Given the description of an element on the screen output the (x, y) to click on. 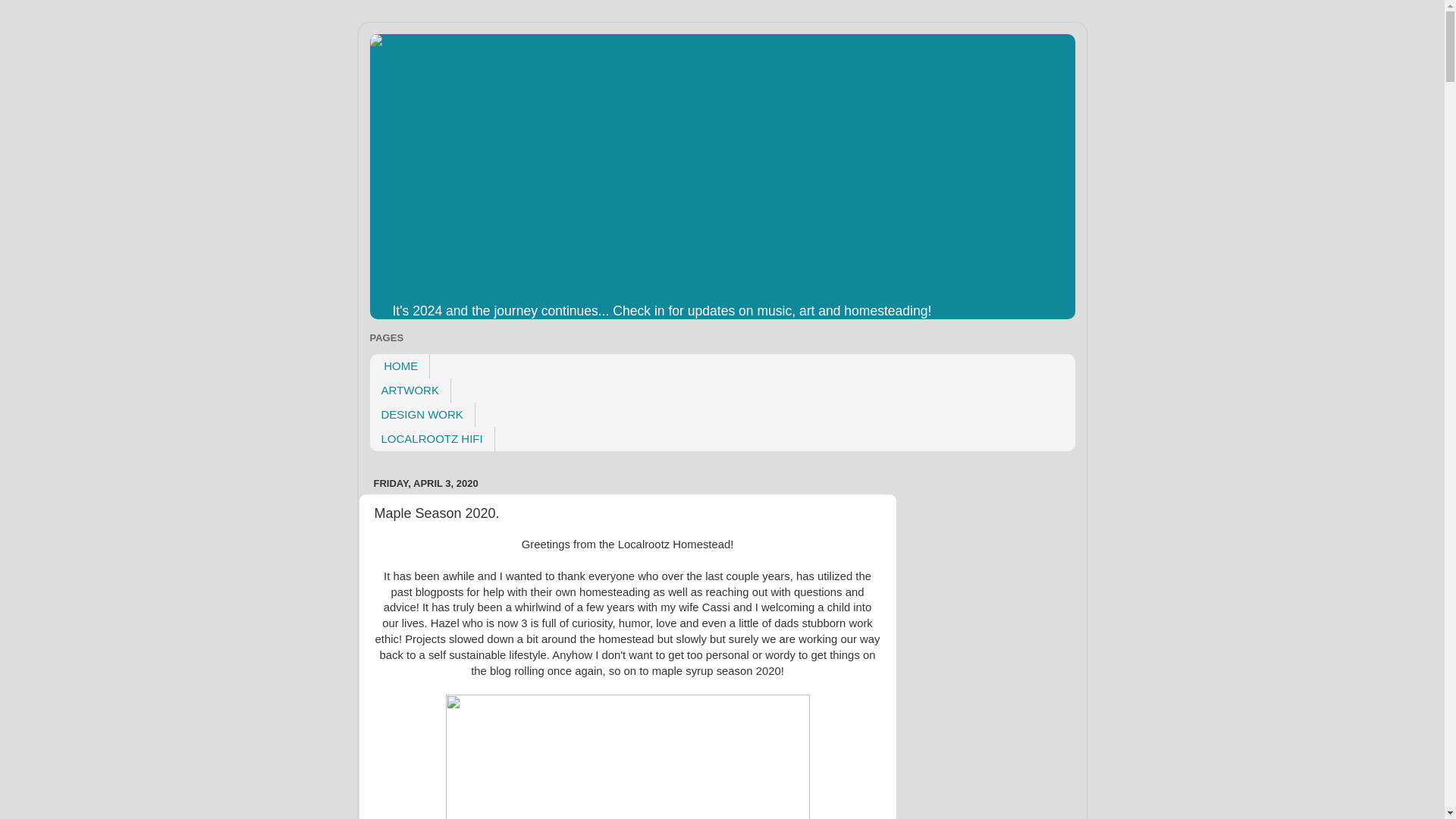
ARTWORK (410, 390)
LOCALROOTZ HIFI (432, 438)
DESIGN WORK (422, 414)
HOME (399, 365)
